Given the description of an element on the screen output the (x, y) to click on. 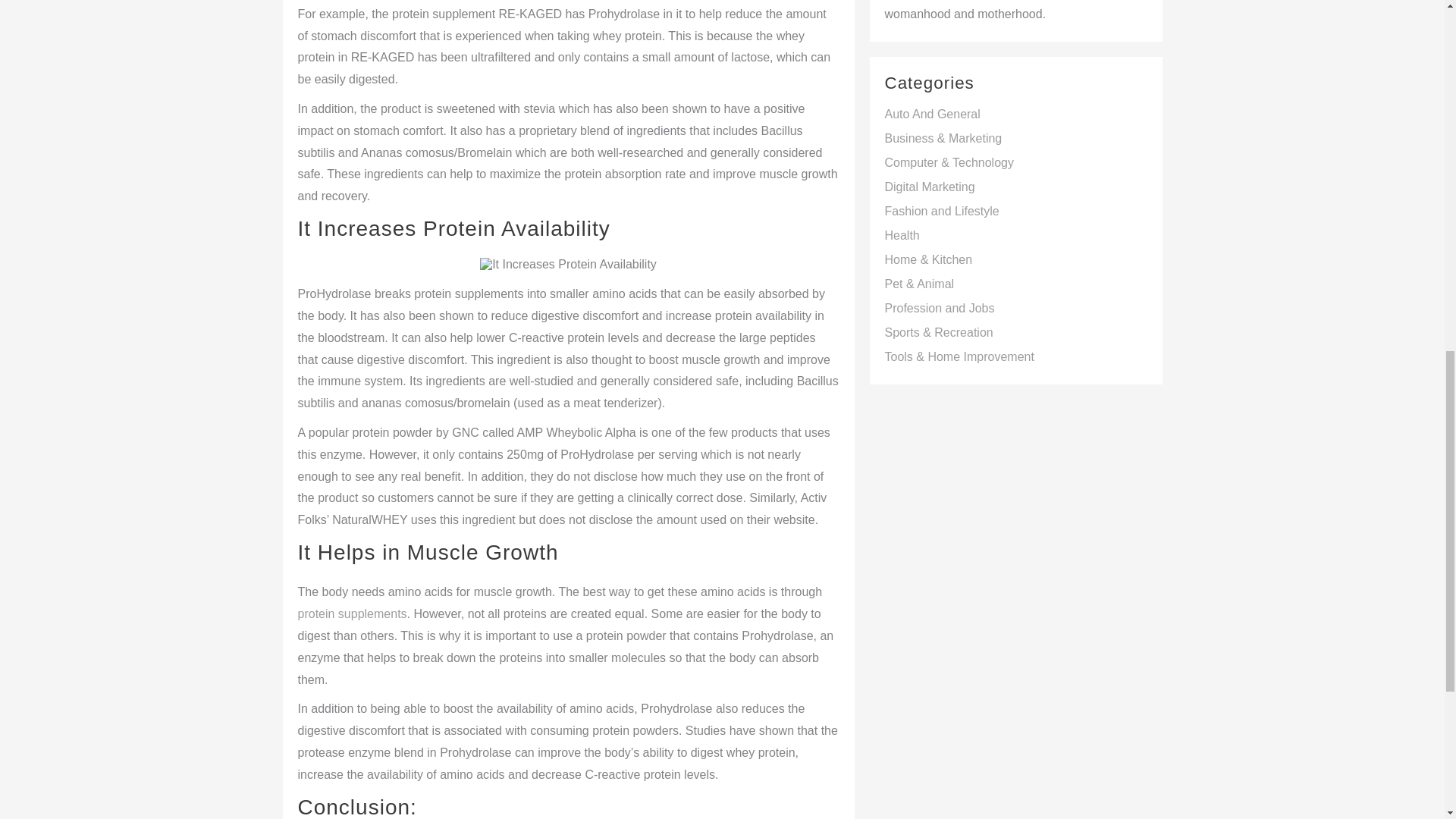
Digital Marketing (928, 186)
Profession and Jobs (938, 308)
protein supplements (351, 613)
Auto And General (931, 113)
Health (900, 235)
Fashion and Lifestyle (940, 210)
